Given the description of an element on the screen output the (x, y) to click on. 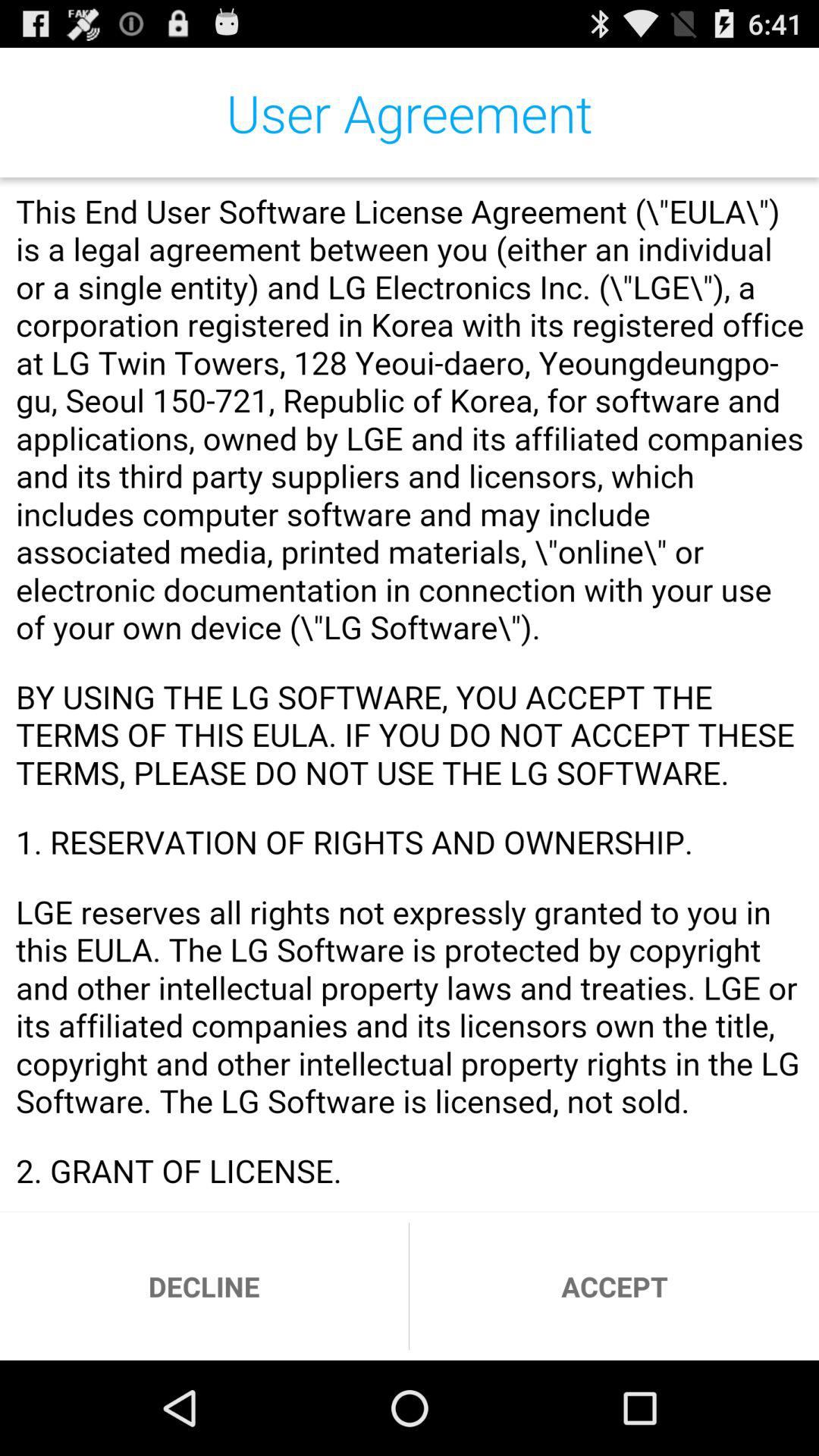
read our terms (409, 694)
